Given the description of an element on the screen output the (x, y) to click on. 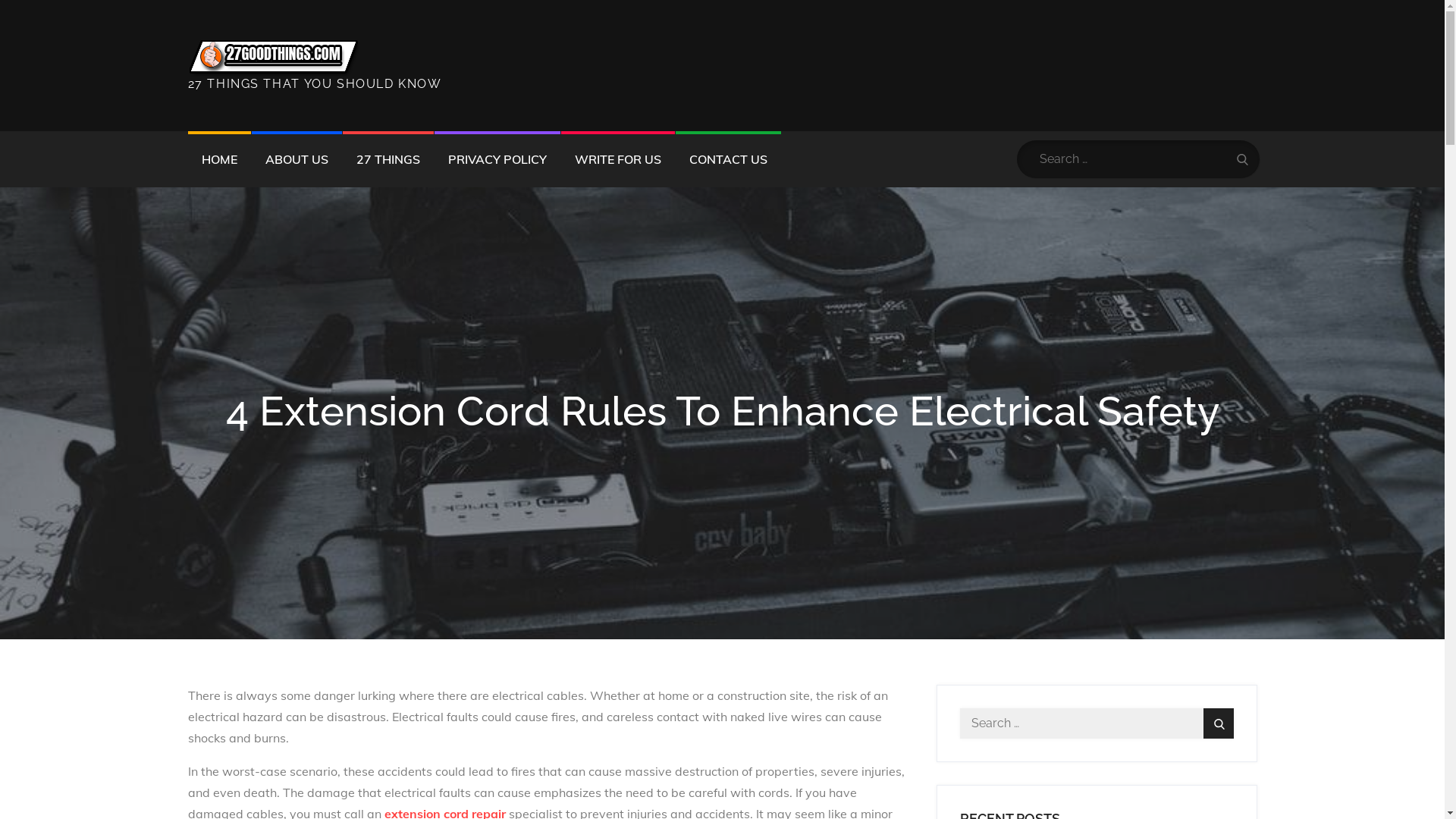
CONTACT US Element type: text (727, 159)
WRITE FOR US Element type: text (617, 159)
ABOUT US Element type: text (296, 159)
PRIVACY POLICY Element type: text (496, 159)
Search Element type: text (1217, 723)
Search Element type: text (1242, 159)
27 THINGS Element type: text (387, 159)
HOME Element type: text (219, 159)
